Given the description of an element on the screen output the (x, y) to click on. 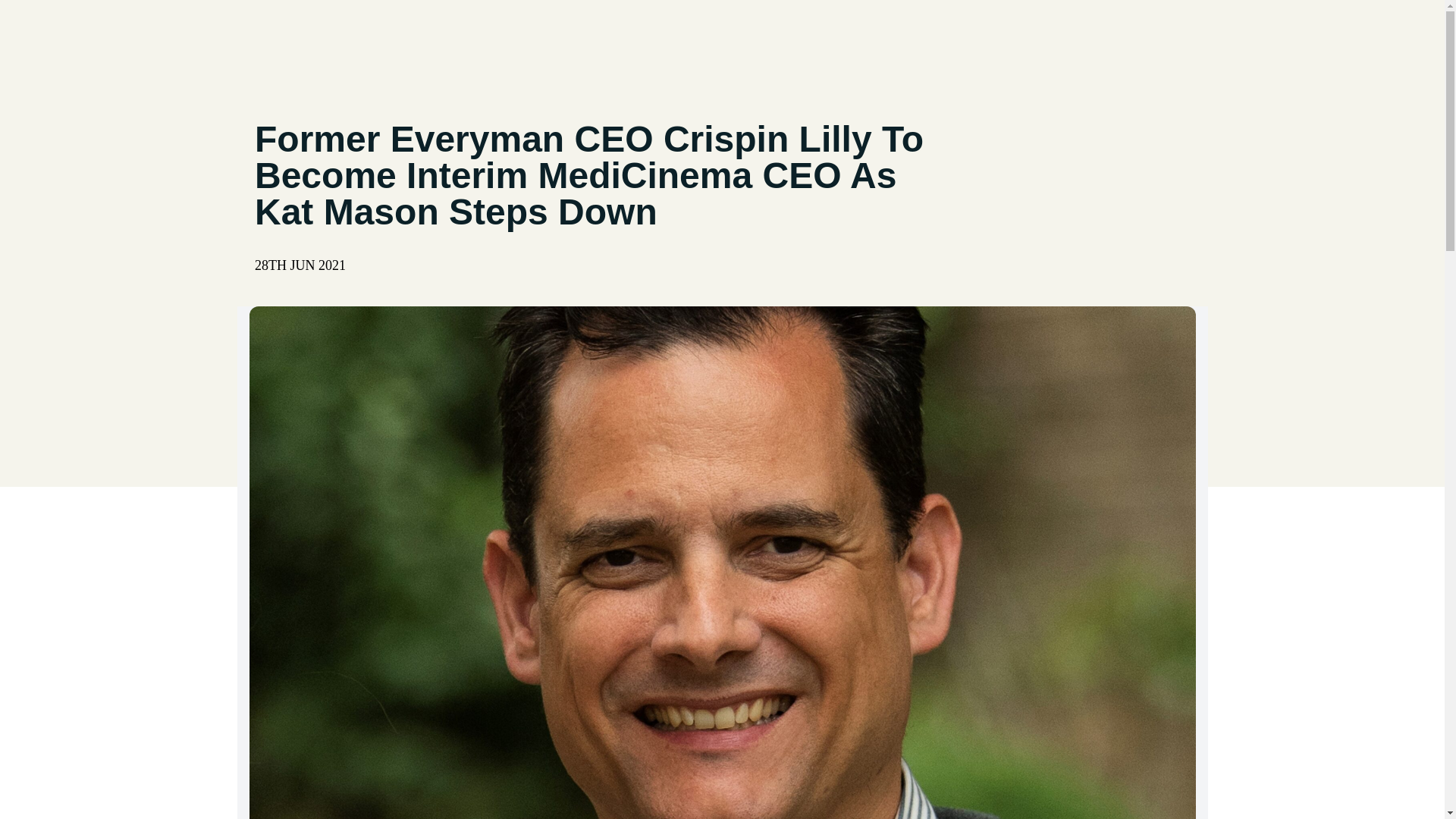
Support (777, 41)
About (706, 41)
Donate Now (1133, 41)
Impact (849, 41)
News (1011, 41)
Showtimes (932, 41)
Medicinema (345, 41)
